Given the description of an element on the screen output the (x, y) to click on. 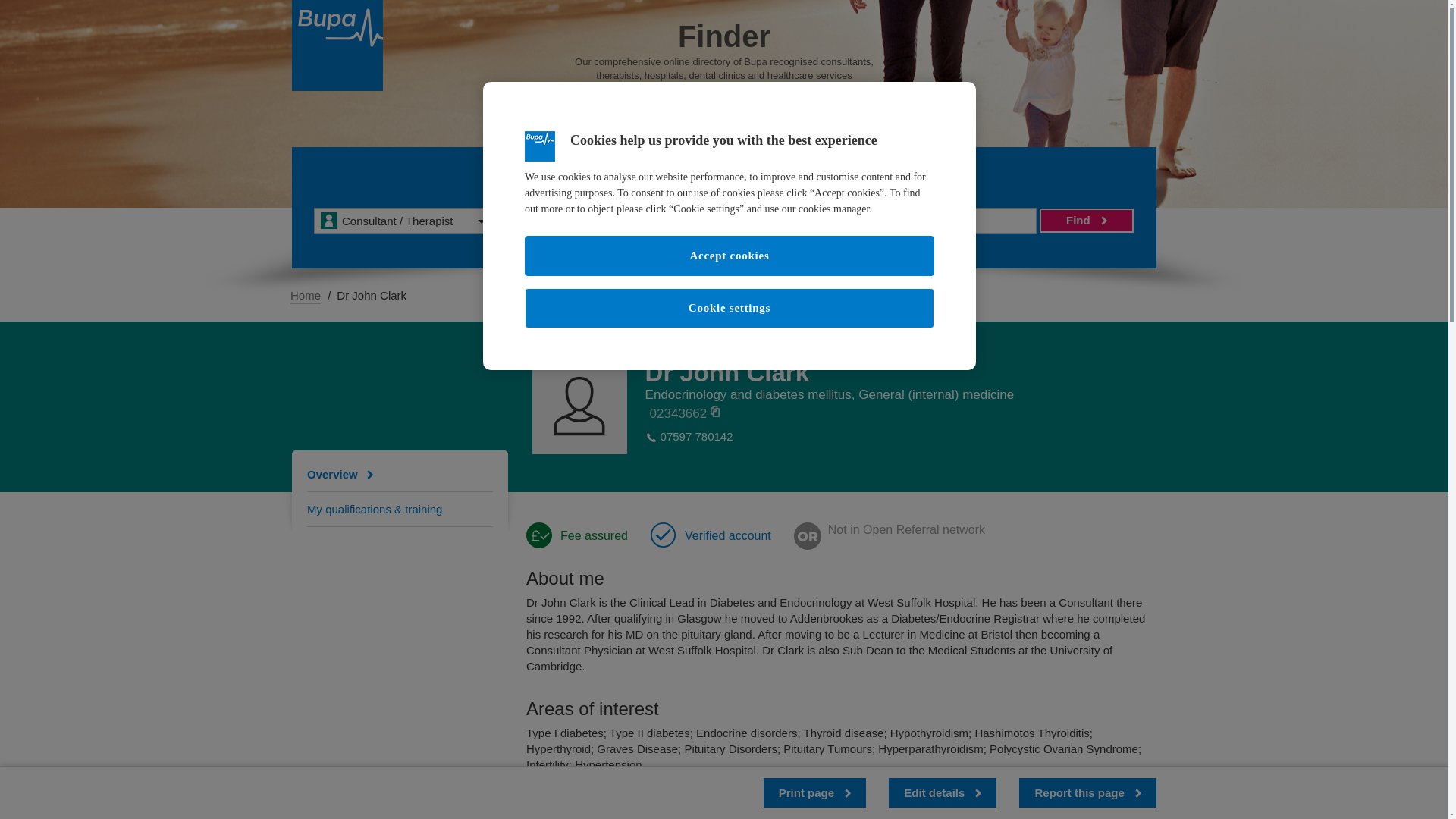
Find (1086, 220)
Home (304, 296)
Report this page (1087, 792)
Print page (814, 792)
07597 780142 (697, 436)
Overview (344, 473)
Update and verify your Bupa Finder profile (941, 792)
Edit details (941, 792)
